Given the description of an element on the screen output the (x, y) to click on. 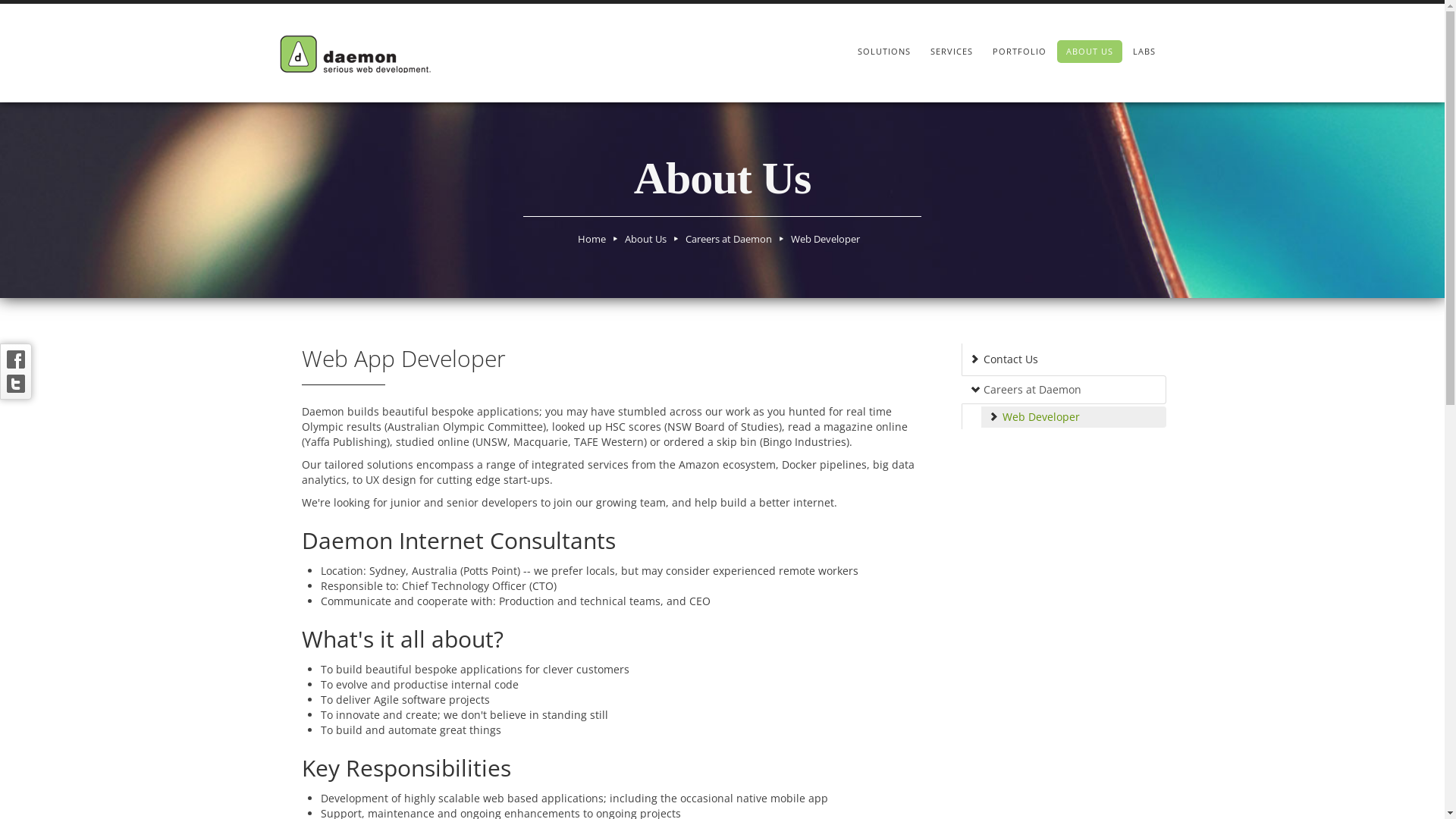
ABOUT US Element type: text (1089, 51)
Web Developer Element type: text (1073, 416)
PORTFOLIO Element type: text (1018, 51)
About Us Element type: text (645, 238)
Web Developer Element type: text (824, 238)
SERVICES Element type: text (950, 51)
LABS Element type: text (1143, 51)
Careers at Daemon Element type: text (728, 238)
daemon Element type: text (354, 52)
Careers at Daemon Element type: text (1063, 389)
SOLUTIONS Element type: text (883, 51)
Contact Us Element type: text (1063, 359)
Home Element type: text (591, 238)
